Given the description of an element on the screen output the (x, y) to click on. 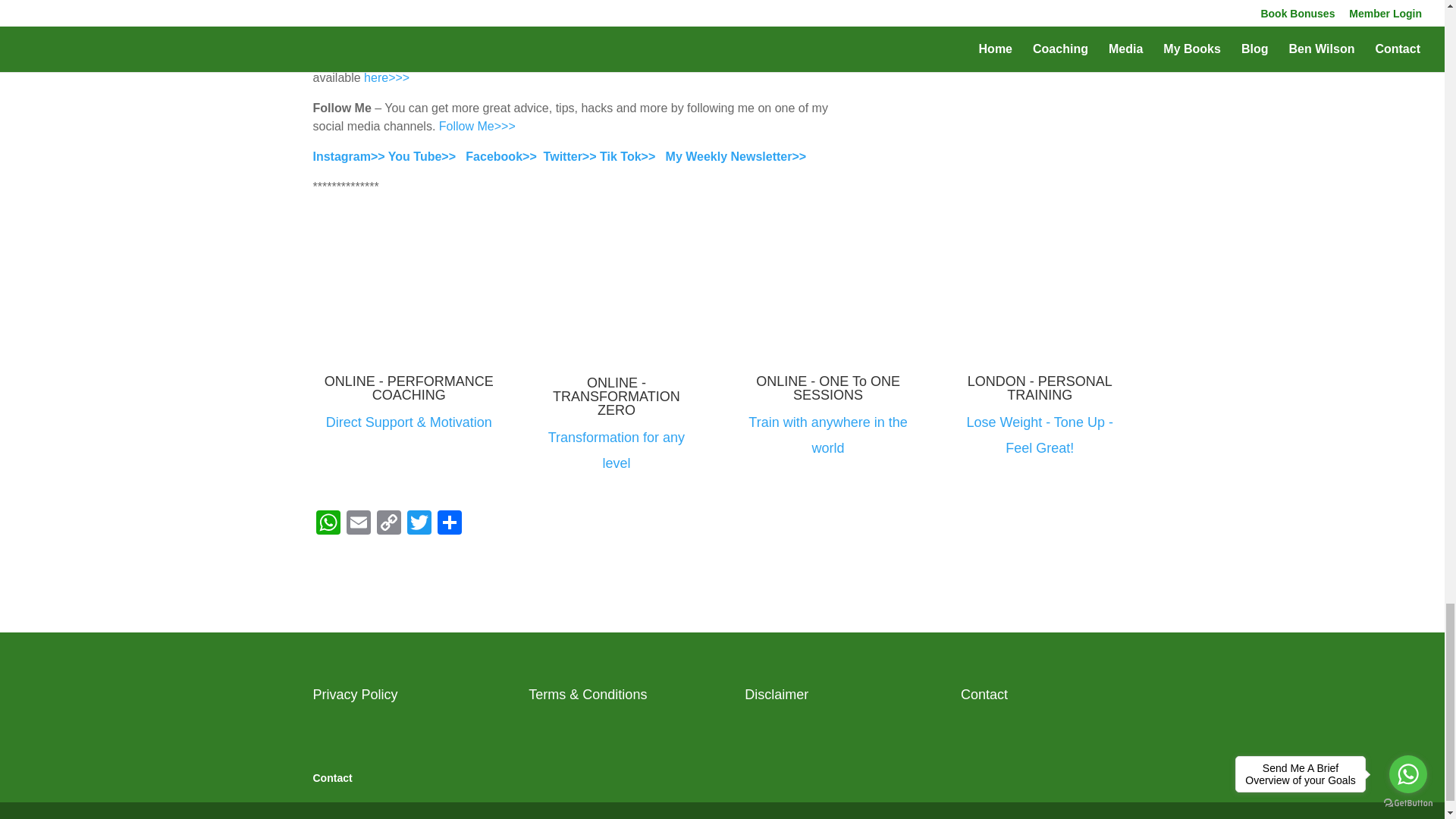
book (727, 41)
Copy Link (387, 524)
Twitter (418, 524)
Email (357, 524)
WhatsApp (327, 524)
